Given the description of an element on the screen output the (x, y) to click on. 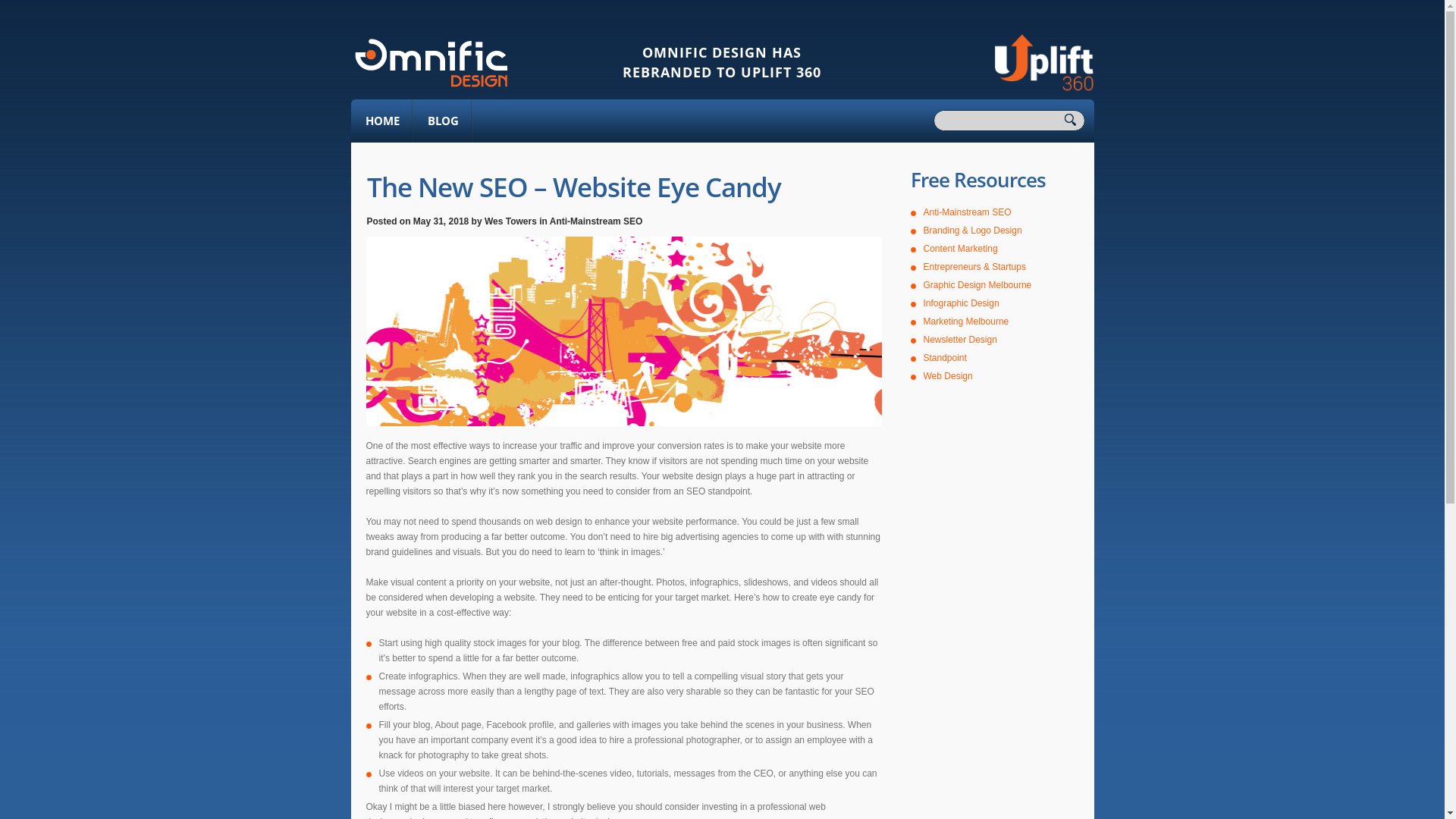
Anti-Mainstream SEO Element type: text (967, 212)
GO Element type: text (1074, 120)
Newsletter Design Element type: text (960, 339)
Wes Towers Element type: text (510, 221)
Standpoint Element type: text (944, 357)
Anti-Mainstream SEO Element type: text (596, 221)
Web Design Element type: text (947, 375)
Graphic Design Melbourne Element type: text (977, 284)
HOME Element type: text (381, 120)
Entrepreneurs & Startups Element type: text (974, 266)
Infographic Design Element type: text (961, 303)
Marketing Melbourne Element type: text (966, 321)
Content Marketing Element type: text (960, 248)
Branding & Logo Design Element type: text (972, 230)
BLOG Element type: text (441, 120)
Graphic Design & Web Design Melbourne Element type: hover (430, 61)
